Given the description of an element on the screen output the (x, y) to click on. 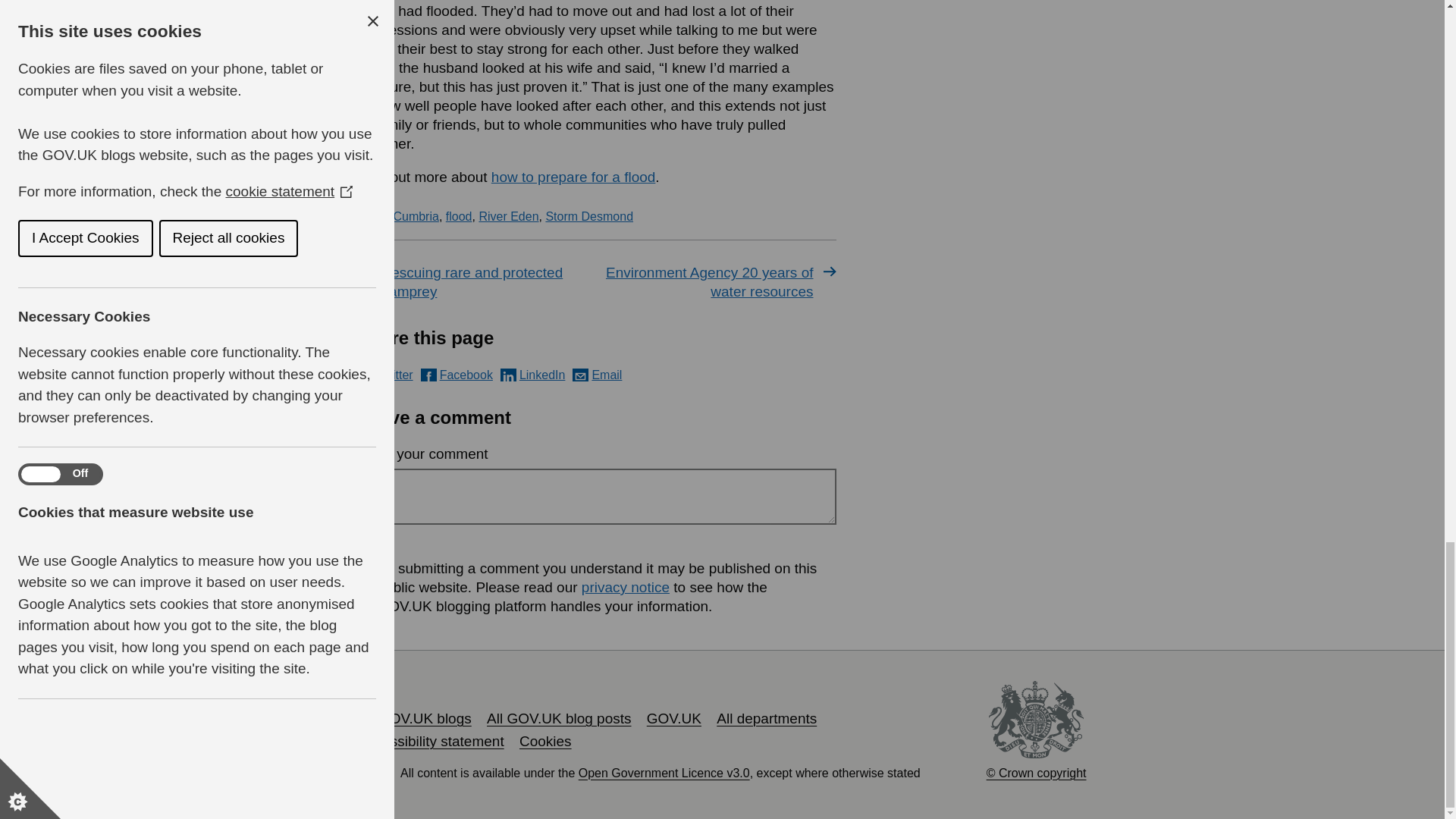
LinkedIn (533, 374)
Environment Agency 20 years of water resources (718, 281)
Facebook (456, 374)
privacy notice (624, 587)
Email (596, 374)
flood (458, 215)
how to prepare for a flood (574, 176)
River Eden (508, 215)
Cumbria (415, 215)
Twitter (385, 374)
Storm Desmond (588, 215)
Rescuing rare and protected Lamprey (475, 281)
